Given the description of an element on the screen output the (x, y) to click on. 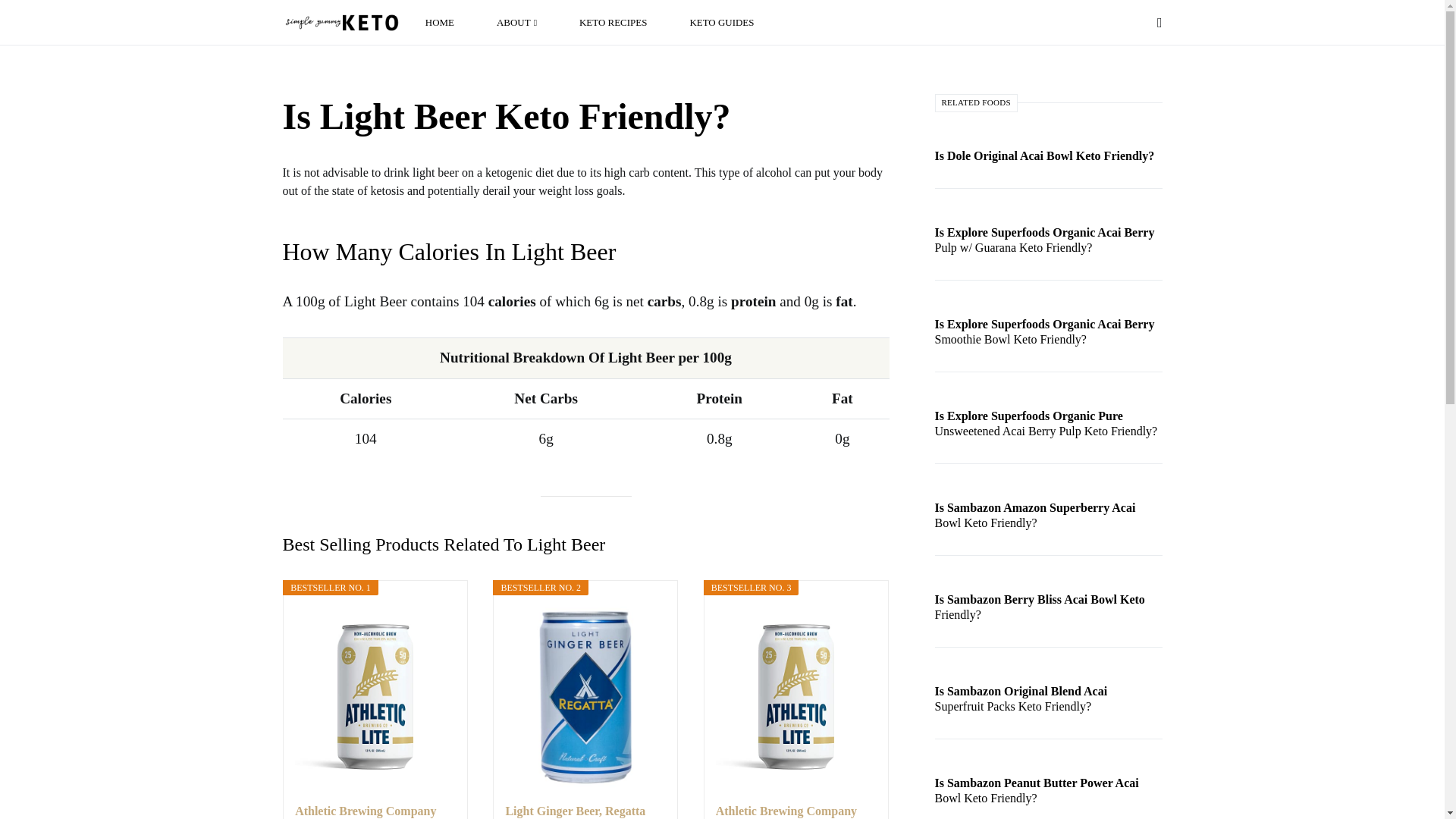
ABOUT (516, 22)
Is Sambazon Berry Bliss Acai Bowl Keto Friendly? (1047, 614)
Light Ginger Beer, Regatta Craft Mixers,... (585, 811)
KETO RECIPES (613, 22)
Athletic Brewing Company Light Craft Non-Alcoholic... (796, 811)
KETO GUIDES (716, 22)
Is Sambazon Amazon Superberry Acai Bowl Keto Friendly? (1047, 522)
Athletic Brewing Company Light Craft Non-Alcoholic... (375, 811)
Is Dole Original Acai Bowl Keto Friendly? (1047, 155)
